Given the description of an element on the screen output the (x, y) to click on. 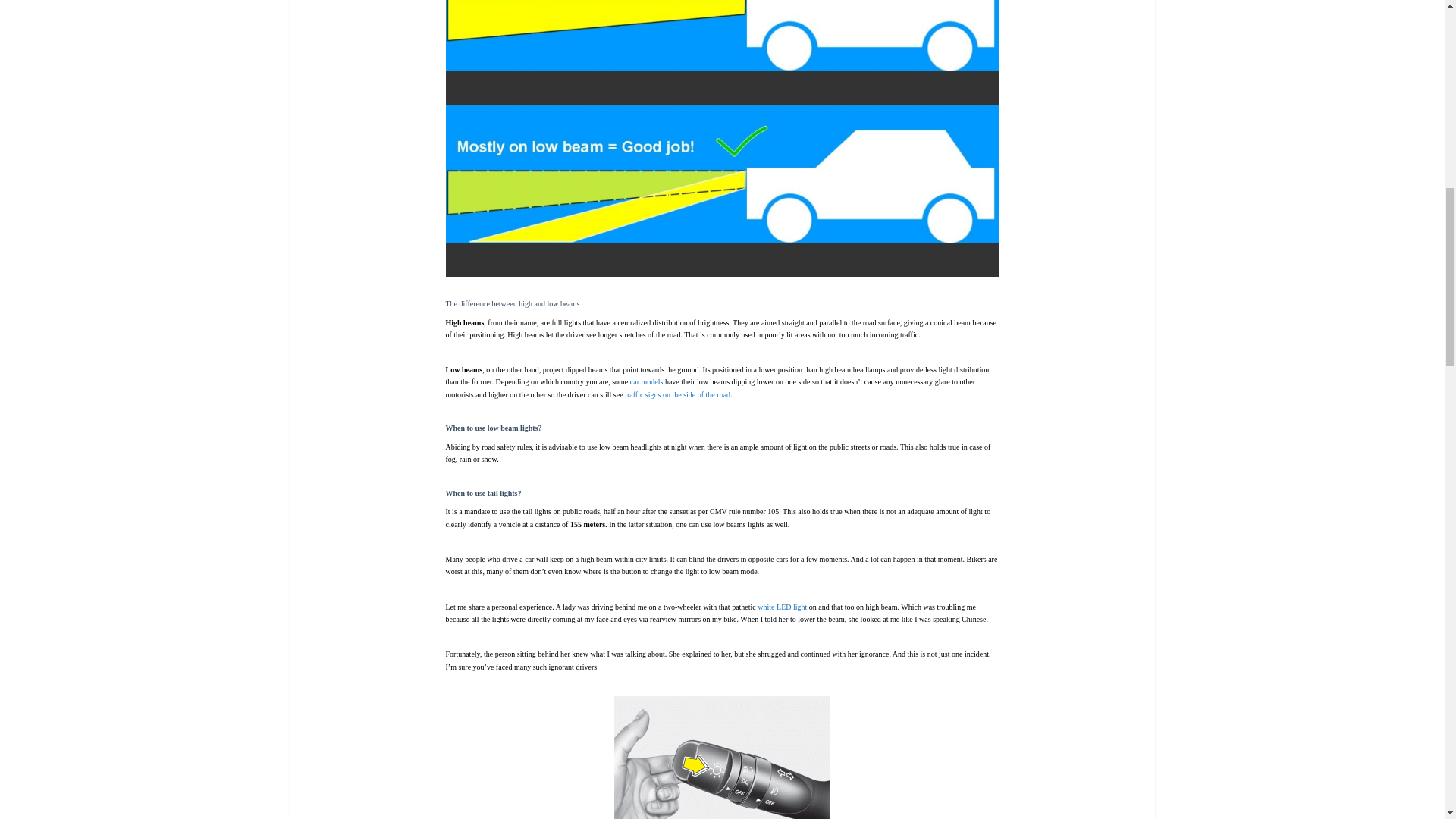
traffic signs on the side of the road (677, 394)
car models (646, 381)
white LED light (781, 606)
